Given the description of an element on the screen output the (x, y) to click on. 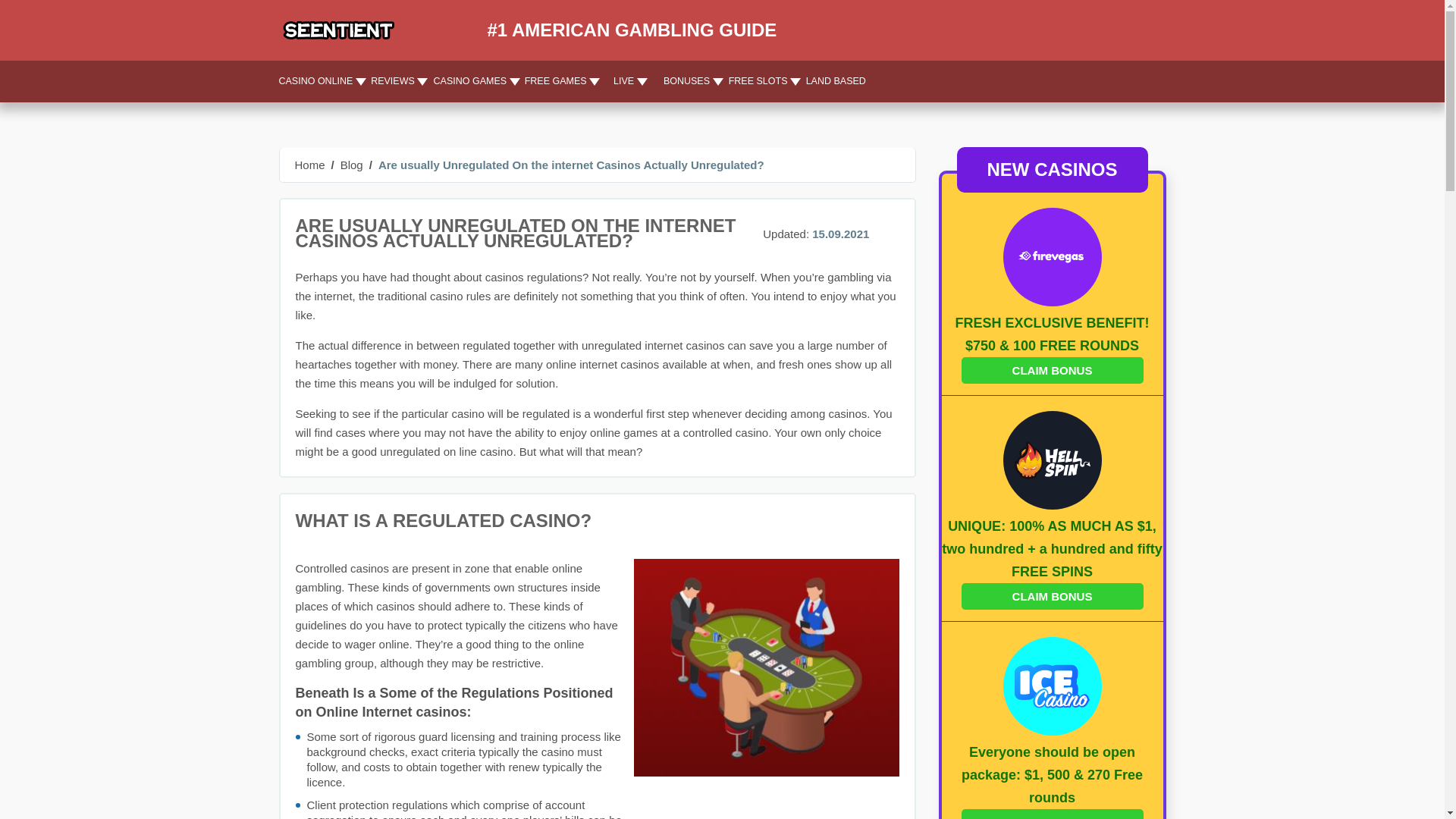
REVIEWS (397, 81)
CASINO GAMES (475, 81)
CASINO ONLINE (323, 81)
